Given the description of an element on the screen output the (x, y) to click on. 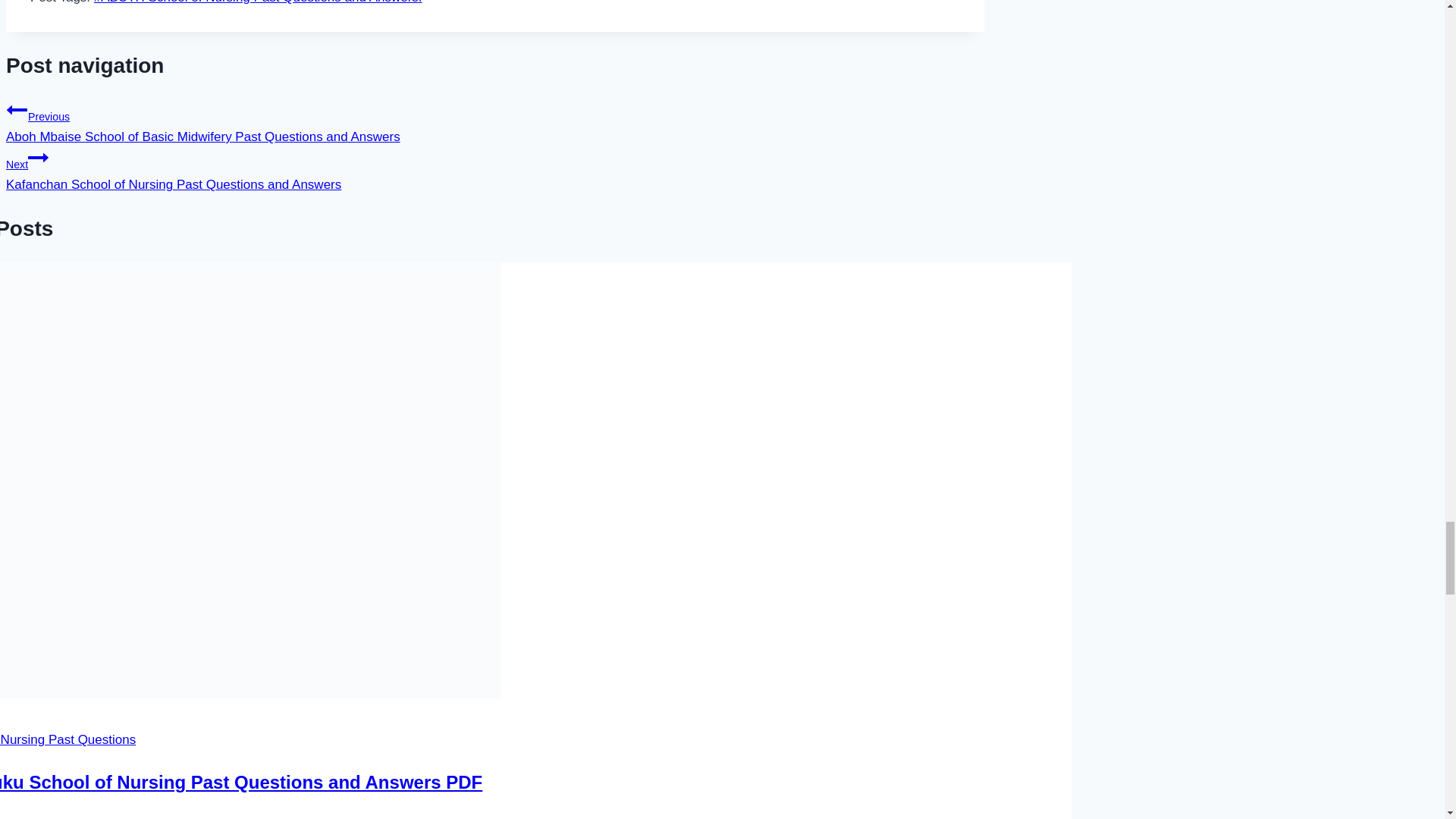
Continue (376, 816)
School of Nursing Past Questions (67, 739)
Continue (37, 157)
Emekuku School of Nursing Past Questions and Answers PDF (240, 782)
ABUTH School of Nursing Past Questions and Answers. (258, 2)
Previous (16, 109)
